Given the description of an element on the screen output the (x, y) to click on. 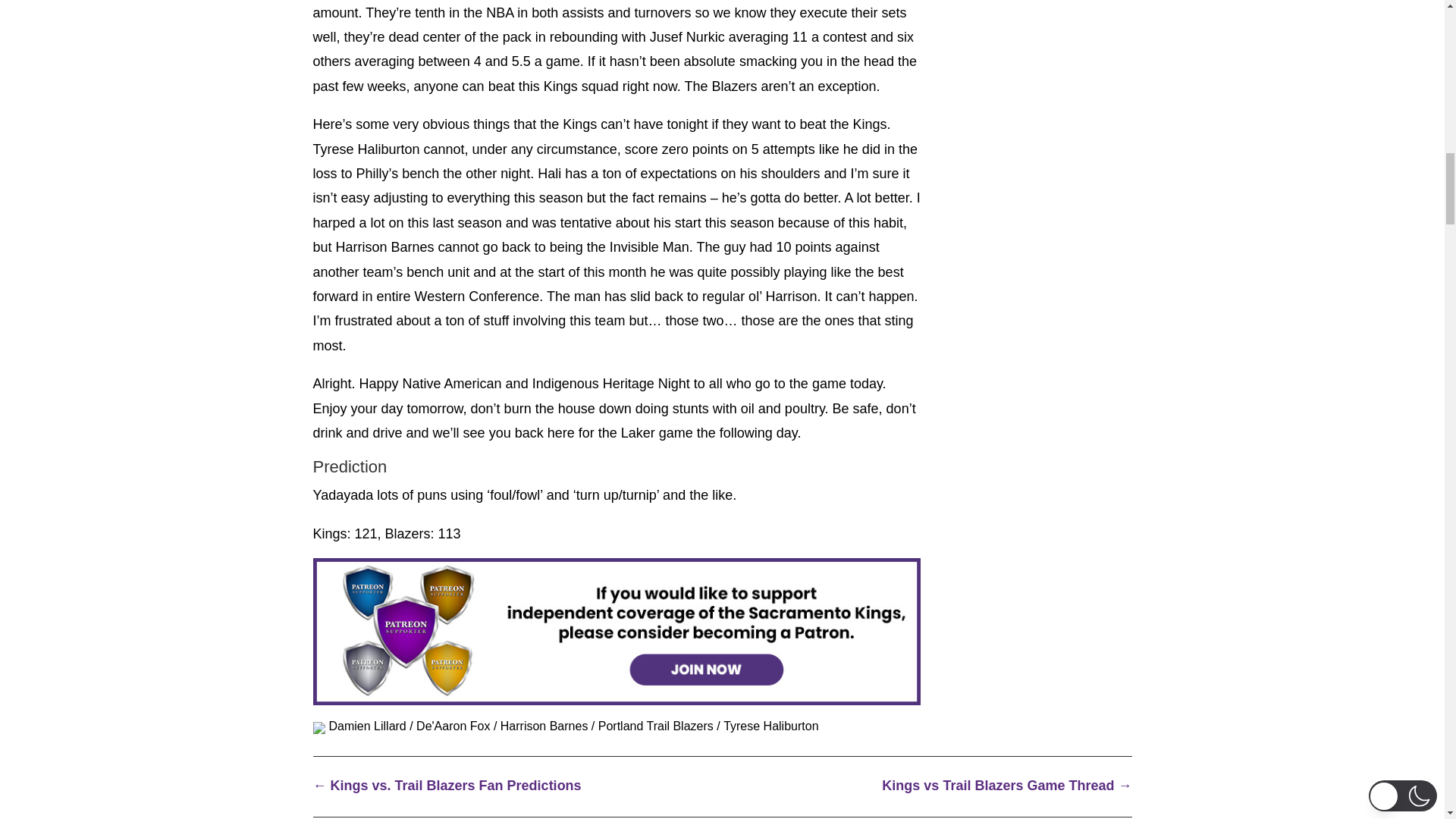
Patreon Membership (616, 631)
